Given the description of an element on the screen output the (x, y) to click on. 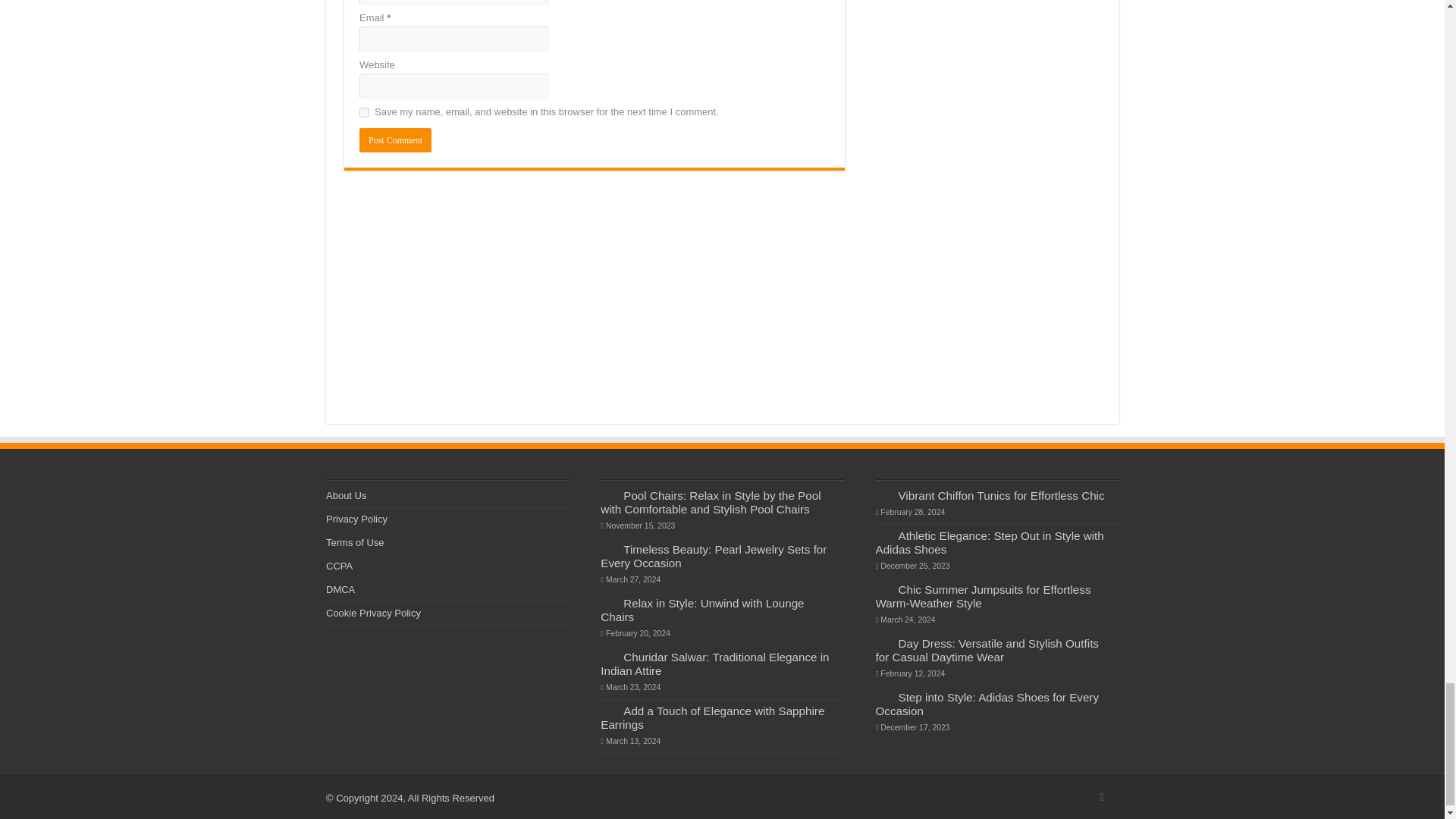
Post Comment (394, 139)
yes (364, 112)
Rss (1102, 797)
